Given the description of an element on the screen output the (x, y) to click on. 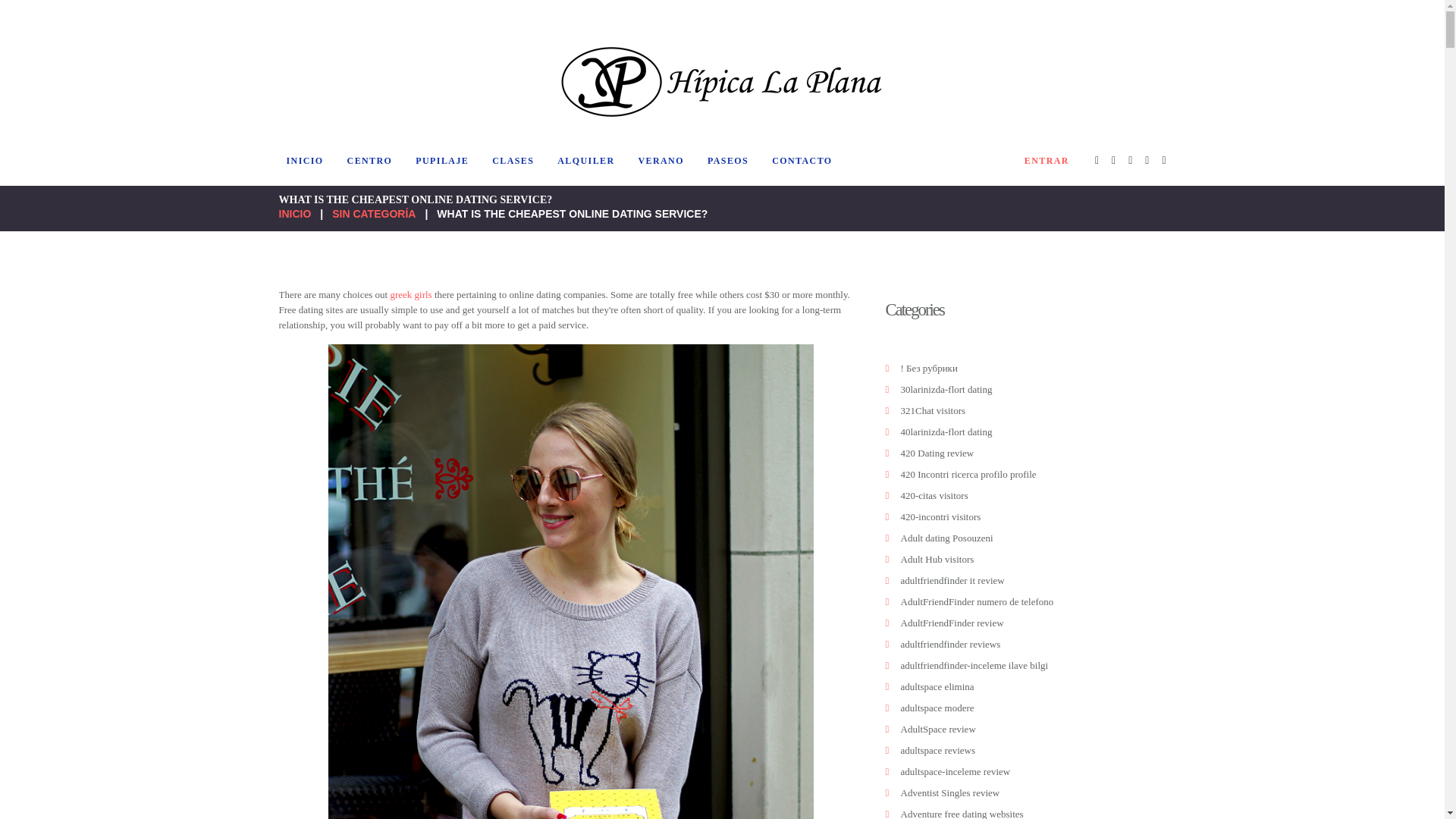
Adult dating Posouzeni (946, 537)
CENTRO (369, 160)
CLASES (512, 160)
420 Incontri ricerca profilo profile (968, 473)
greek girls (410, 294)
420 Dating review (937, 452)
CONTACTO (802, 160)
ENTRAR (1046, 160)
Hiplica La Plana (721, 81)
Entrar (1046, 160)
30larinizda-flort dating (946, 389)
INICIO (305, 160)
VERANO (660, 160)
40larinizda-flort dating (946, 431)
420-incontri visitors (941, 516)
